Given the description of an element on the screen output the (x, y) to click on. 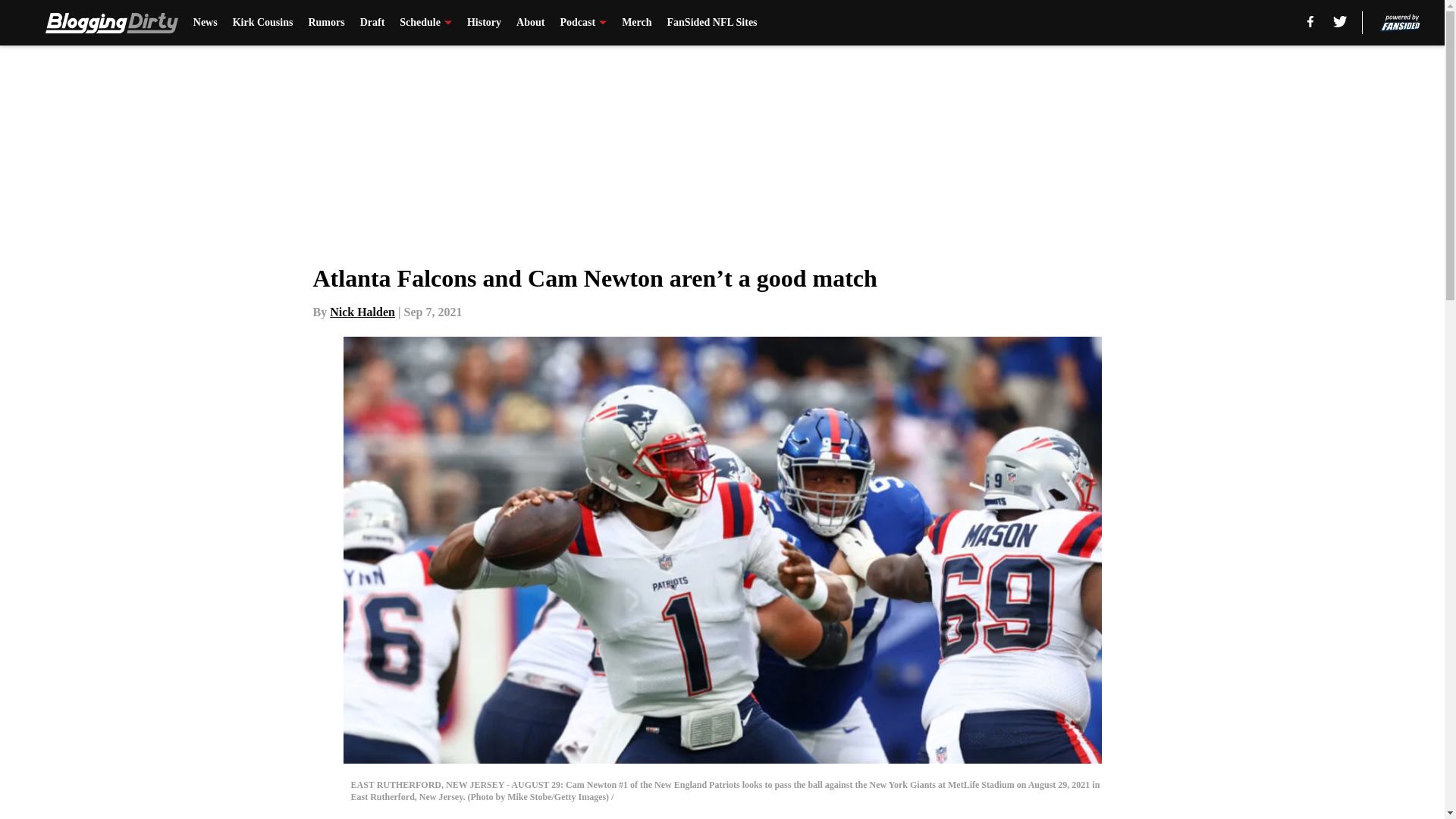
Merch (635, 22)
Draft (372, 22)
About (530, 22)
Rumors (325, 22)
History (483, 22)
FanSided NFL Sites (711, 22)
Nick Halden (362, 311)
News (204, 22)
Kirk Cousins (263, 22)
